Given the description of an element on the screen output the (x, y) to click on. 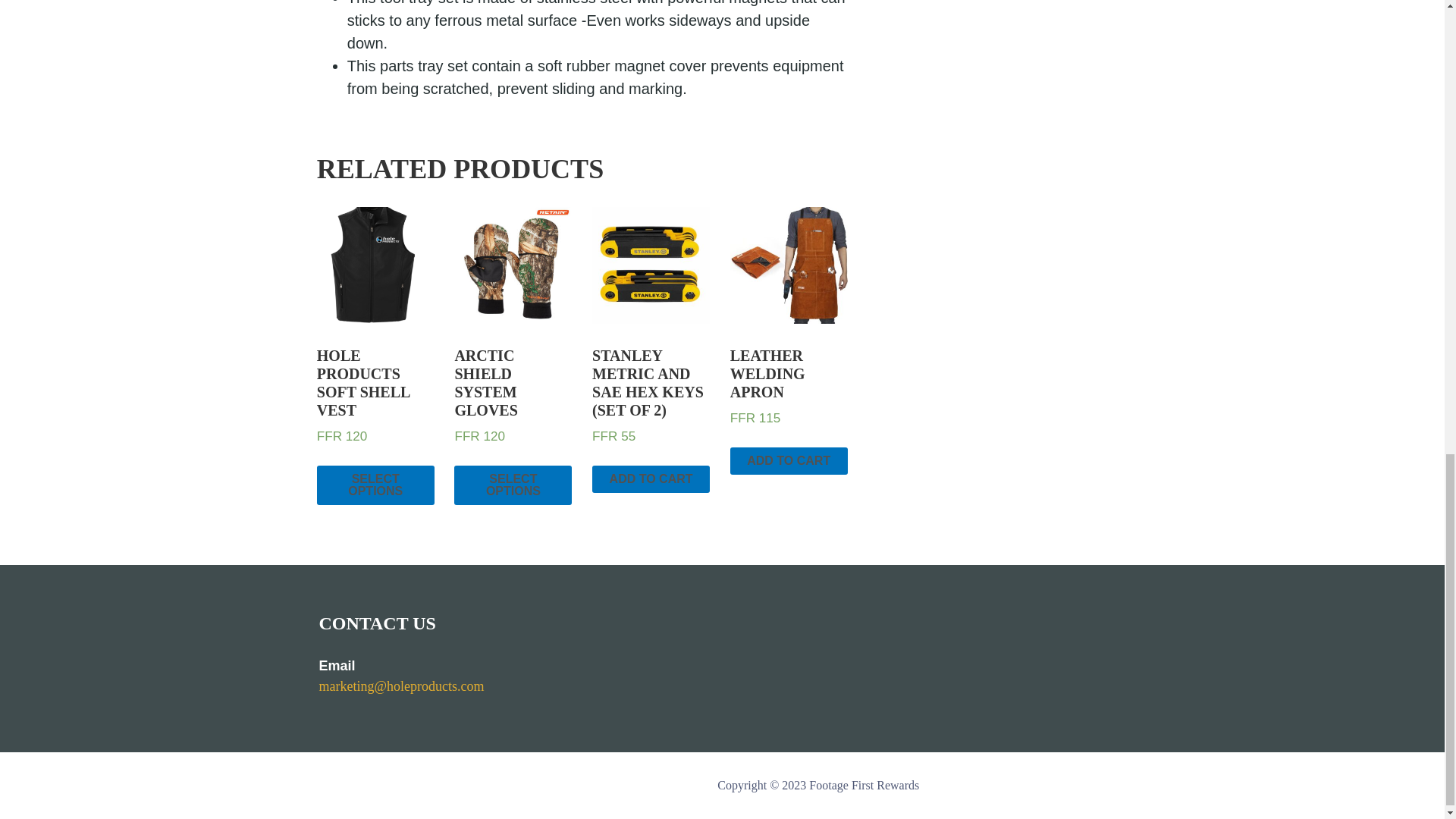
SELECT OPTIONS (375, 485)
ADD TO CART (651, 479)
SELECT OPTIONS (513, 485)
ADD TO CART (788, 461)
